Given the description of an element on the screen output the (x, y) to click on. 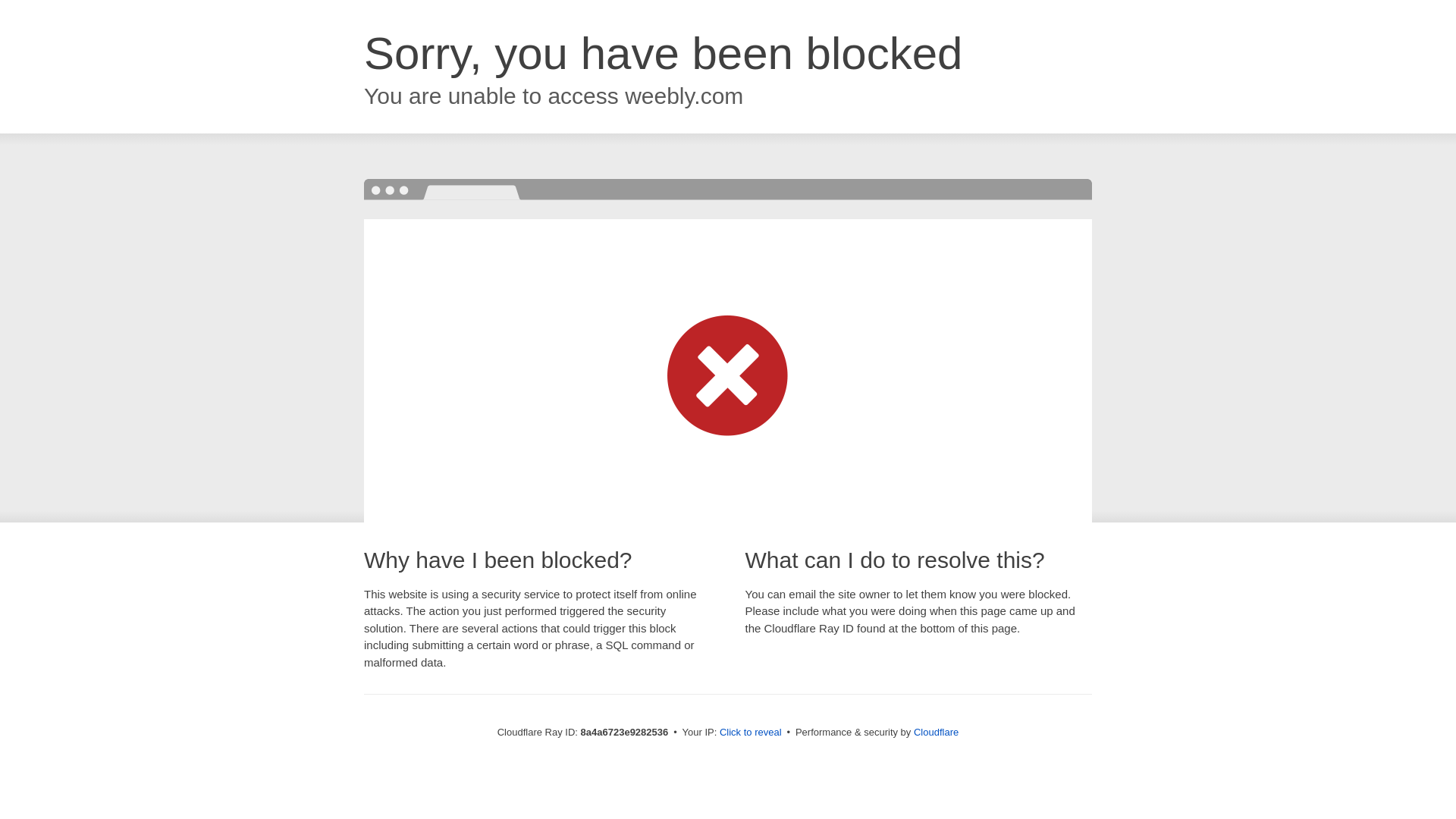
Click to reveal (750, 732)
Cloudflare (936, 731)
